Given the description of an element on the screen output the (x, y) to click on. 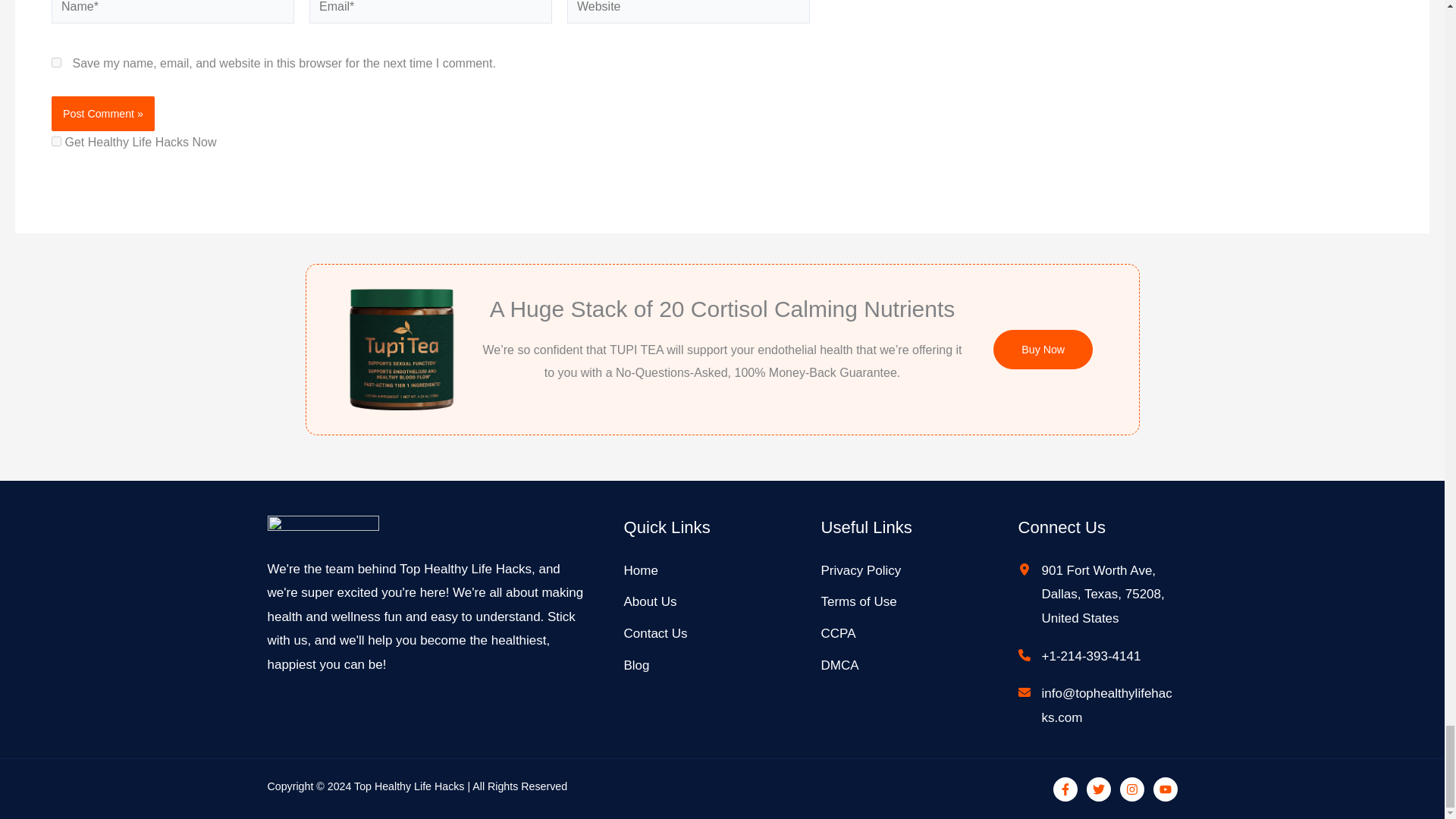
yes (55, 62)
1 (55, 141)
